Given the description of an element on the screen output the (x, y) to click on. 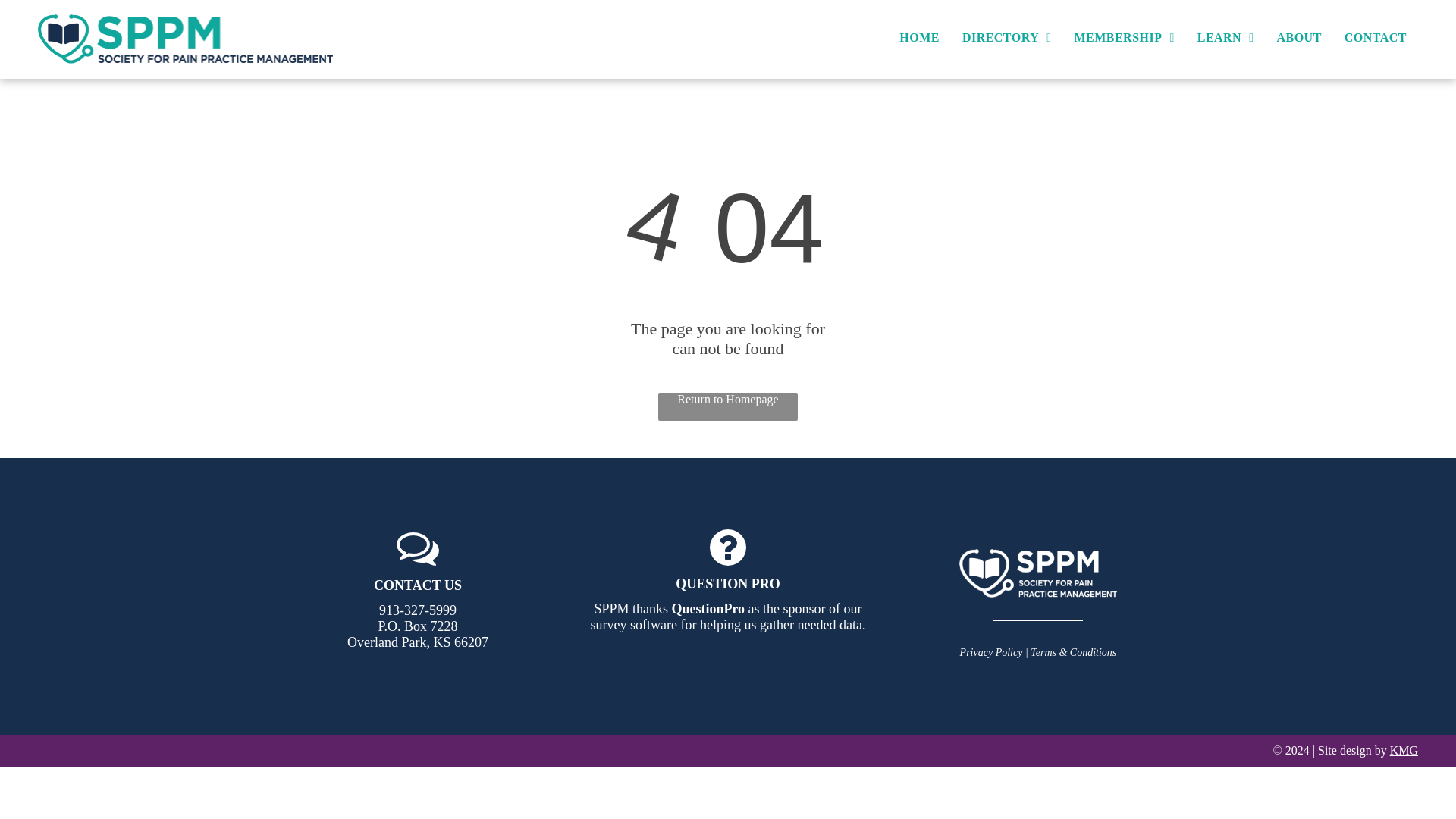
CONTACT (1375, 38)
QuestionPro (707, 608)
Return to Homepage (727, 406)
913-327-5999 (417, 610)
LEARN (1225, 38)
DIRECTORY (1006, 38)
ABOUT (1298, 38)
MEMBERSHIP (1124, 38)
HOME (919, 38)
